Given the description of an element on the screen output the (x, y) to click on. 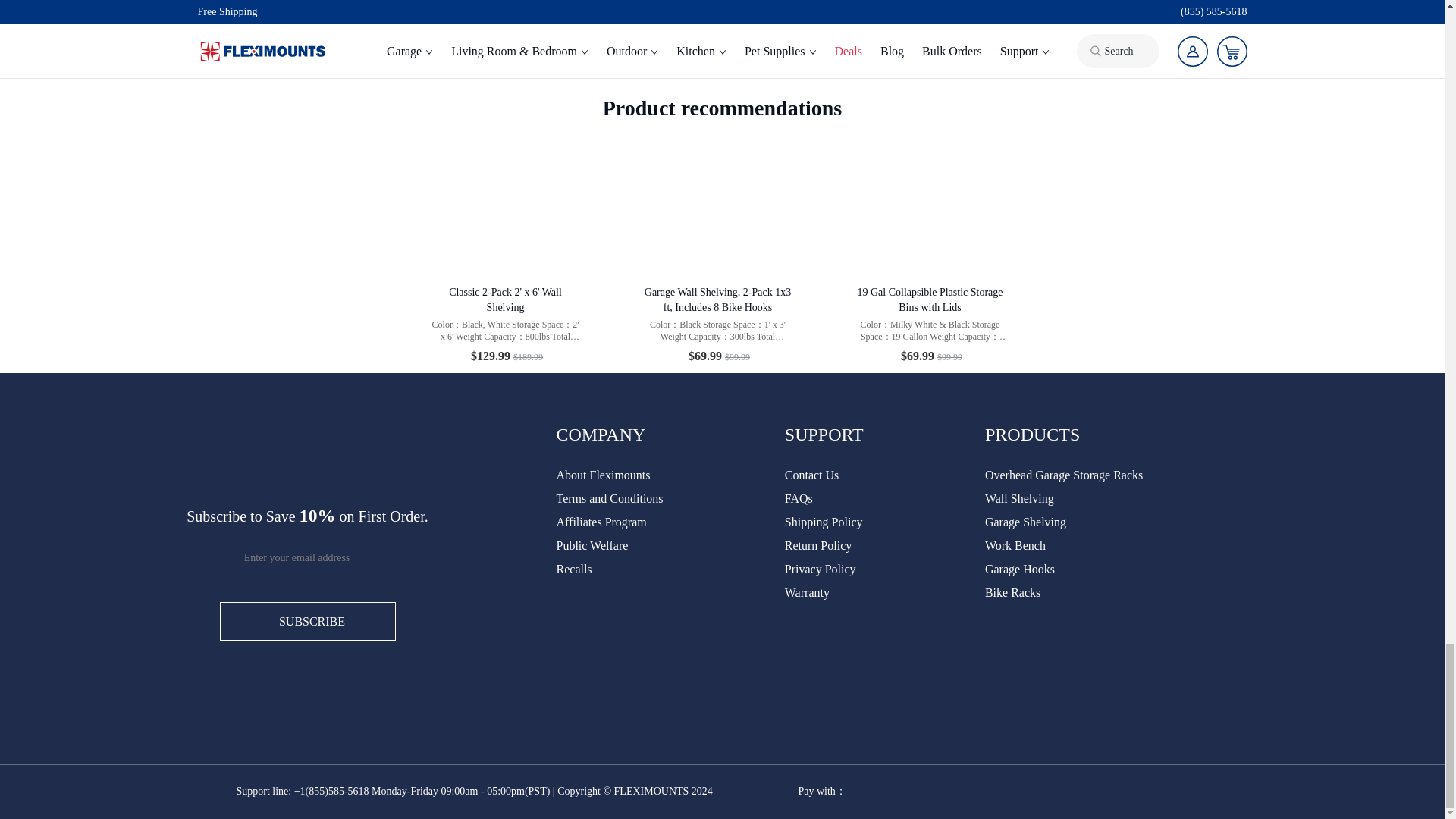
Recalls (574, 568)
Terms and Conditions (609, 498)
SUBSCRIBE (307, 620)
Affiliates Program (601, 521)
About Fleximounts (603, 474)
Public Welfare (592, 545)
